Given the description of an element on the screen output the (x, y) to click on. 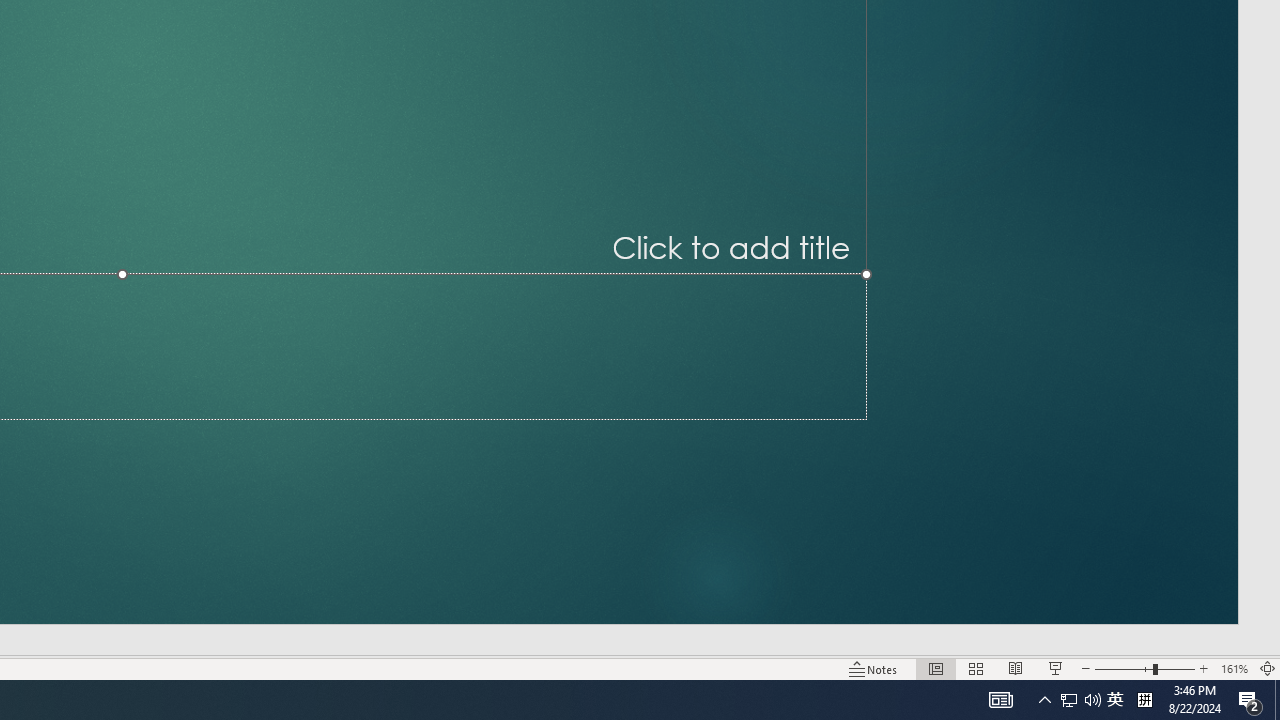
Zoom 161% (1234, 668)
